Given the description of an element on the screen output the (x, y) to click on. 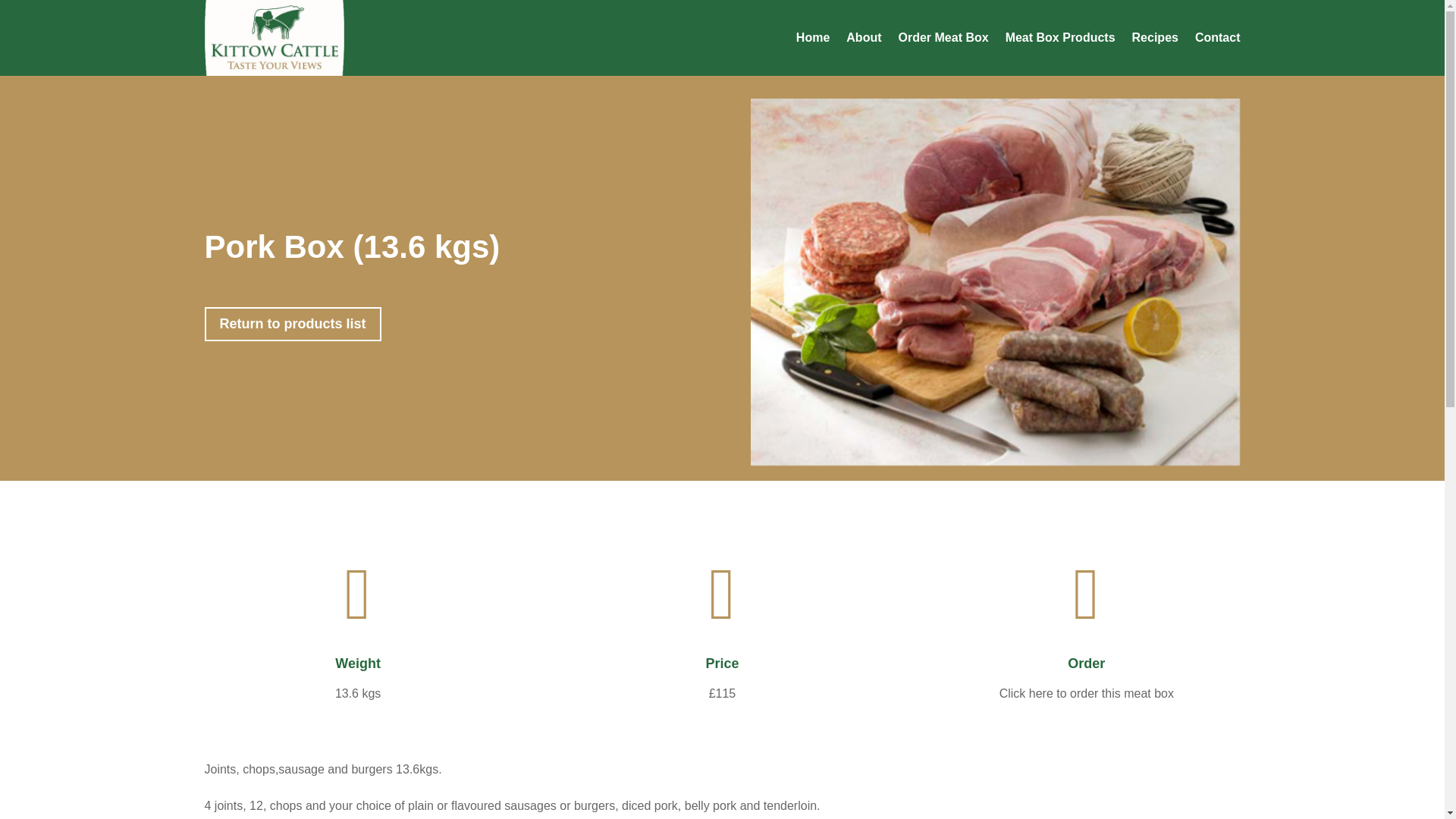
Return to products list (293, 328)
Order Meat Box (943, 38)
Meat Box Products (1060, 38)
